Given the description of an element on the screen output the (x, y) to click on. 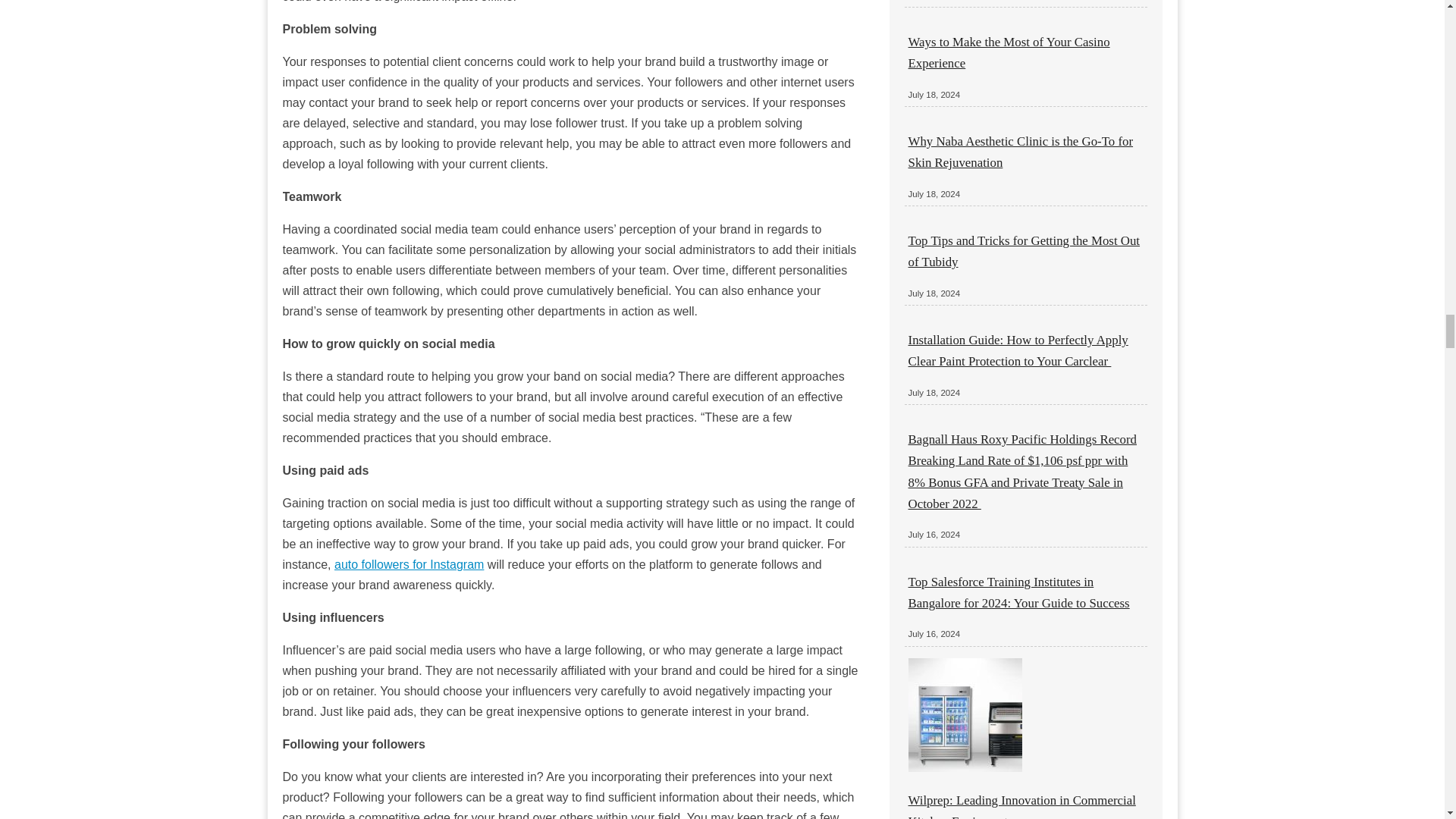
Why Naba Aesthetic Clinic is the Go-To for Skin Rejuvenation (1021, 151)
auto followers for Instagram (408, 563)
Top Tips and Tricks for Getting the Most Out of Tubidy (1024, 251)
Ways to Make the Most of Your Casino Experience (1008, 52)
